Given the description of an element on the screen output the (x, y) to click on. 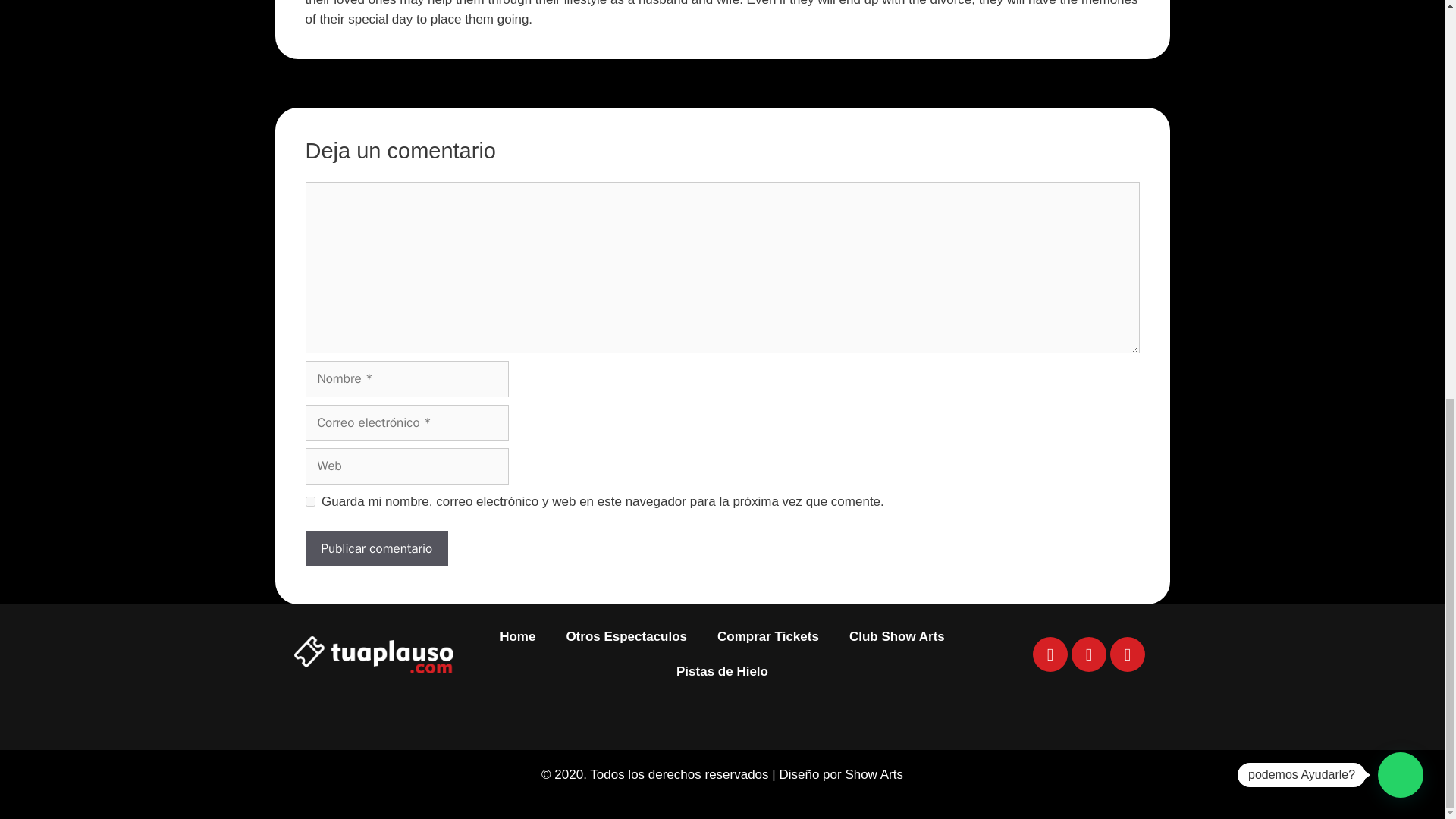
Publicar comentario (376, 548)
Publicar comentario (376, 548)
yes (309, 501)
Home (517, 636)
